Given the description of an element on the screen output the (x, y) to click on. 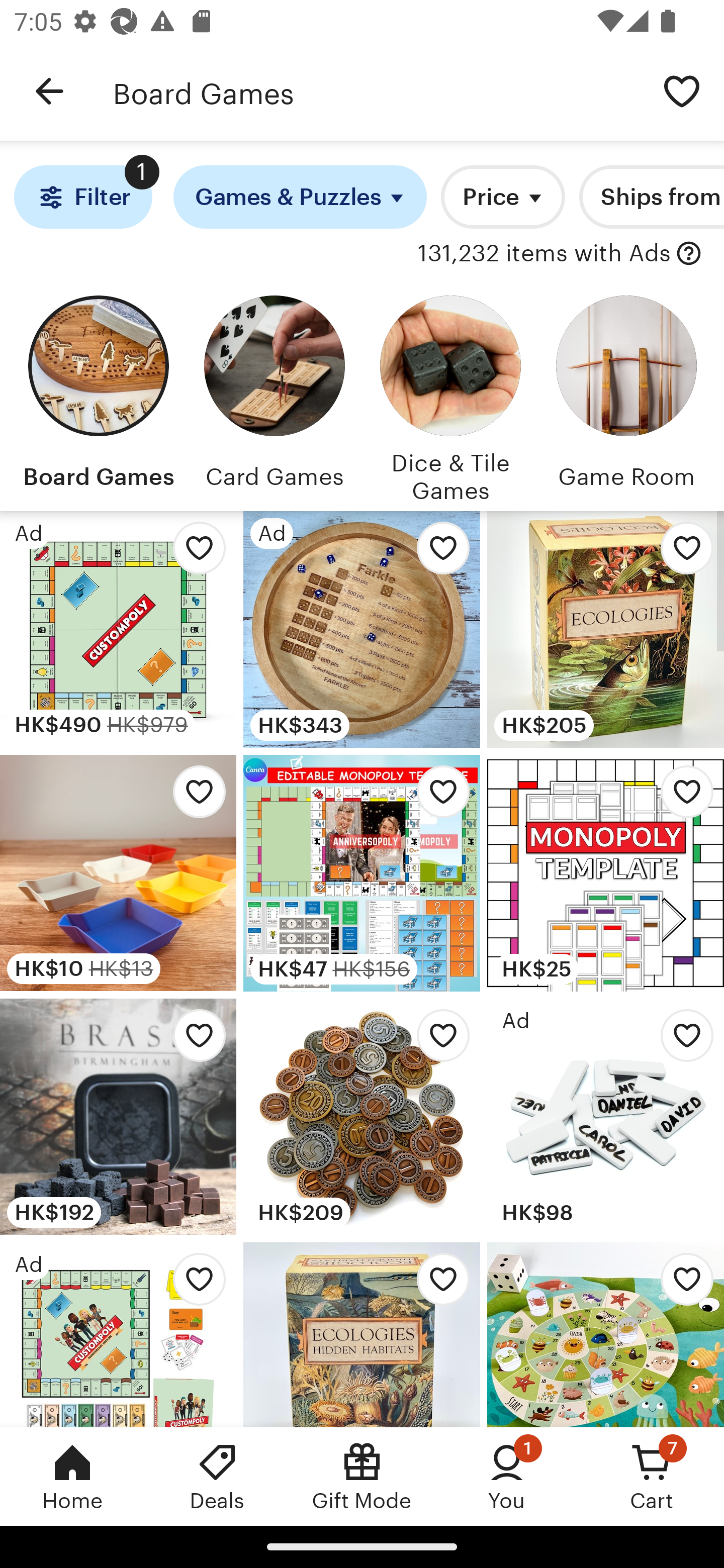
Navigate up (49, 91)
Save search (681, 90)
Board Games (375, 91)
Filter (82, 197)
Games & Puzzles (300, 197)
Price (502, 197)
Ships from (651, 197)
131,232 items with Ads (544, 253)
with Ads (688, 253)
Board Games (97, 395)
Card Games (273, 395)
Dice & Tile Games (449, 395)
Game Room (625, 395)
Deals (216, 1475)
Gift Mode (361, 1475)
You, 1 new notification You (506, 1475)
Cart, 7 new notifications Cart (651, 1475)
